Given the description of an element on the screen output the (x, y) to click on. 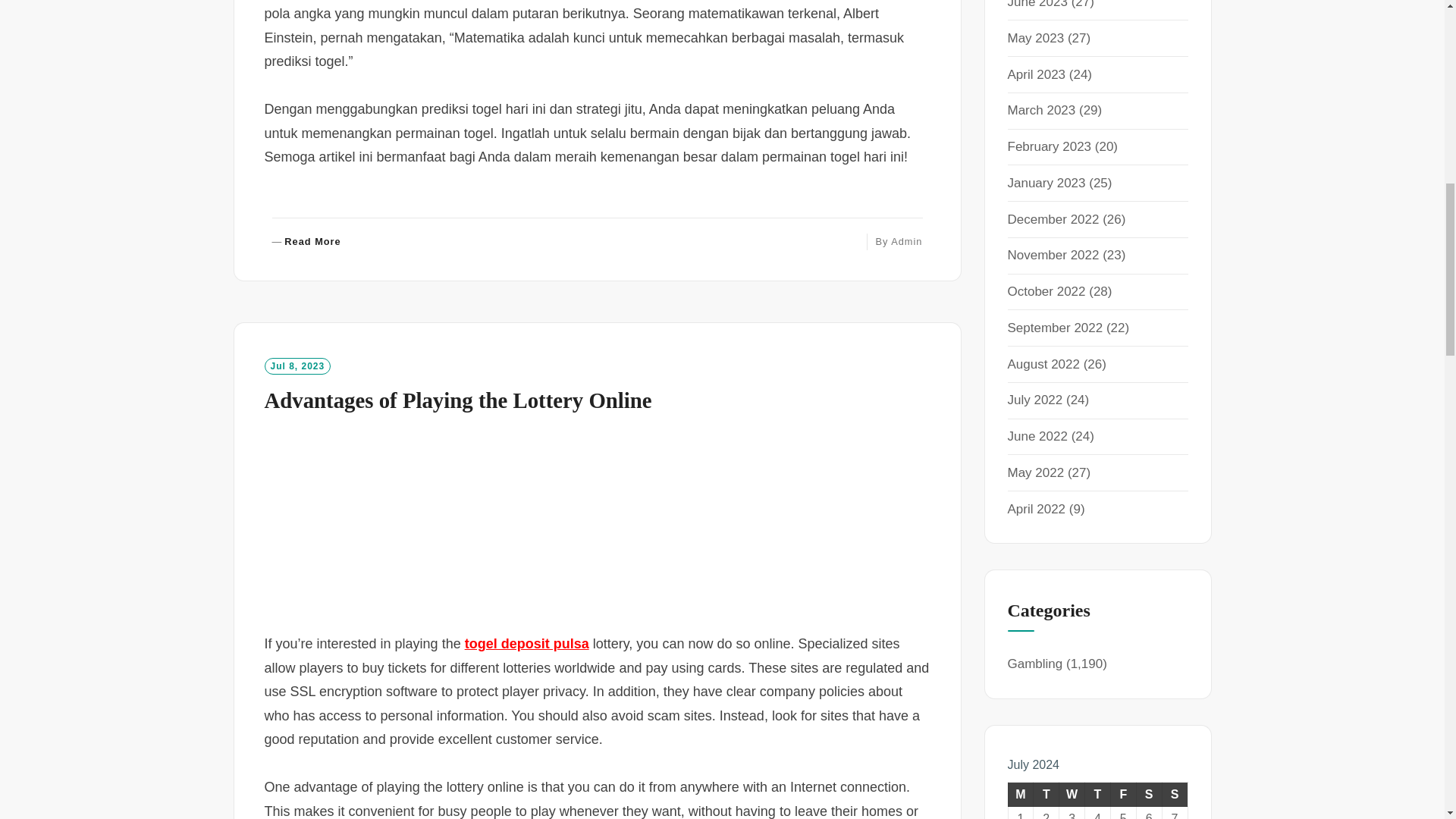
Wednesday (1071, 794)
Tuesday (1046, 794)
Thursday (1097, 794)
May 2023 (305, 241)
Monday (1035, 38)
Saturday (1020, 794)
Advantages of Playing the Lottery Online (1148, 794)
Jul 8, 2023 (456, 400)
June 2023 (296, 365)
Admin (1037, 4)
togel deposit pulsa (906, 241)
Friday (526, 643)
Sunday (1122, 794)
